Given the description of an element on the screen output the (x, y) to click on. 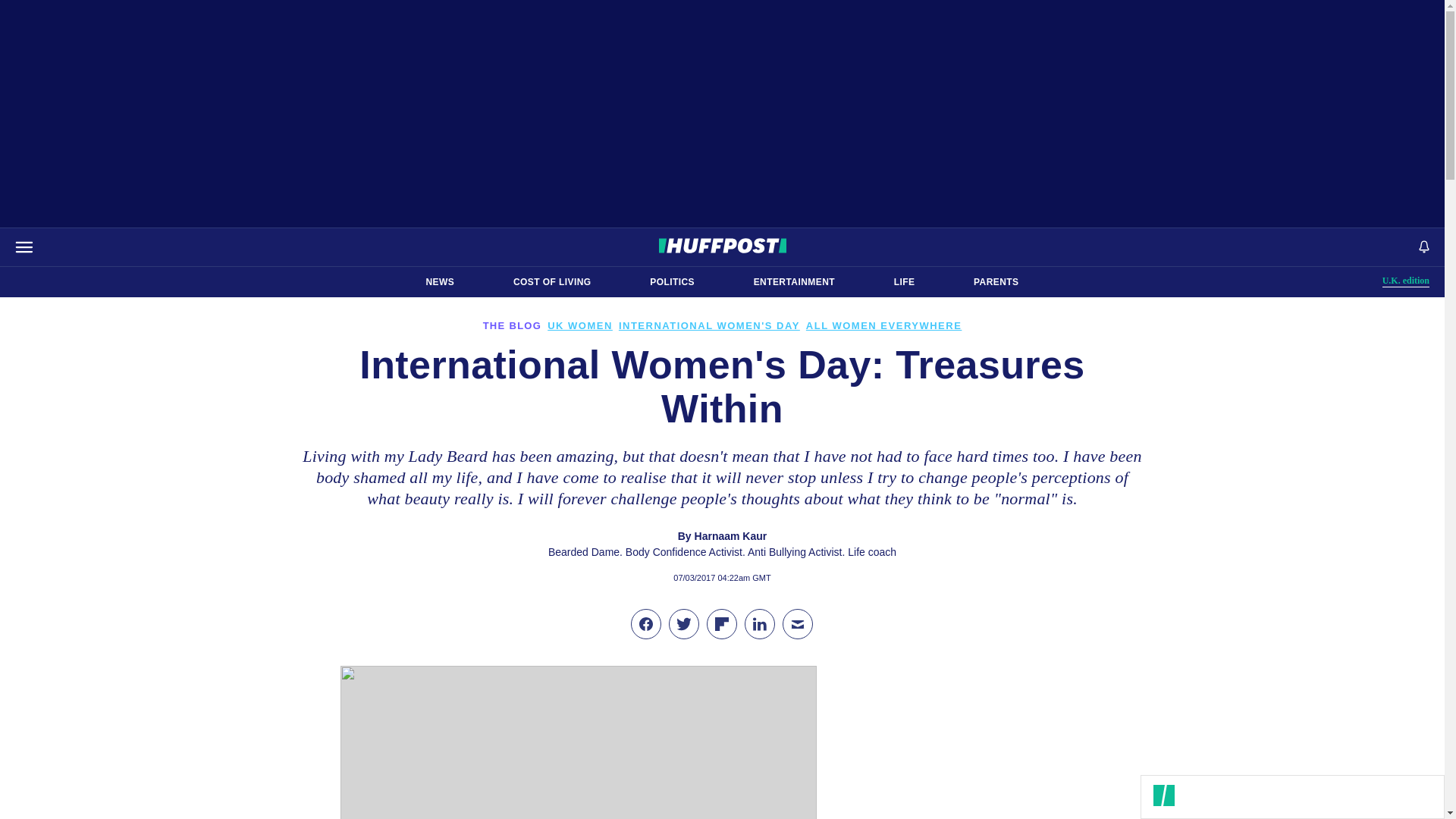
NEWS (1405, 281)
ENTERTAINMENT (440, 281)
PARENTS (794, 281)
POLITICS (995, 281)
COST OF LIVING (671, 281)
LIFE (552, 281)
